Given the description of an element on the screen output the (x, y) to click on. 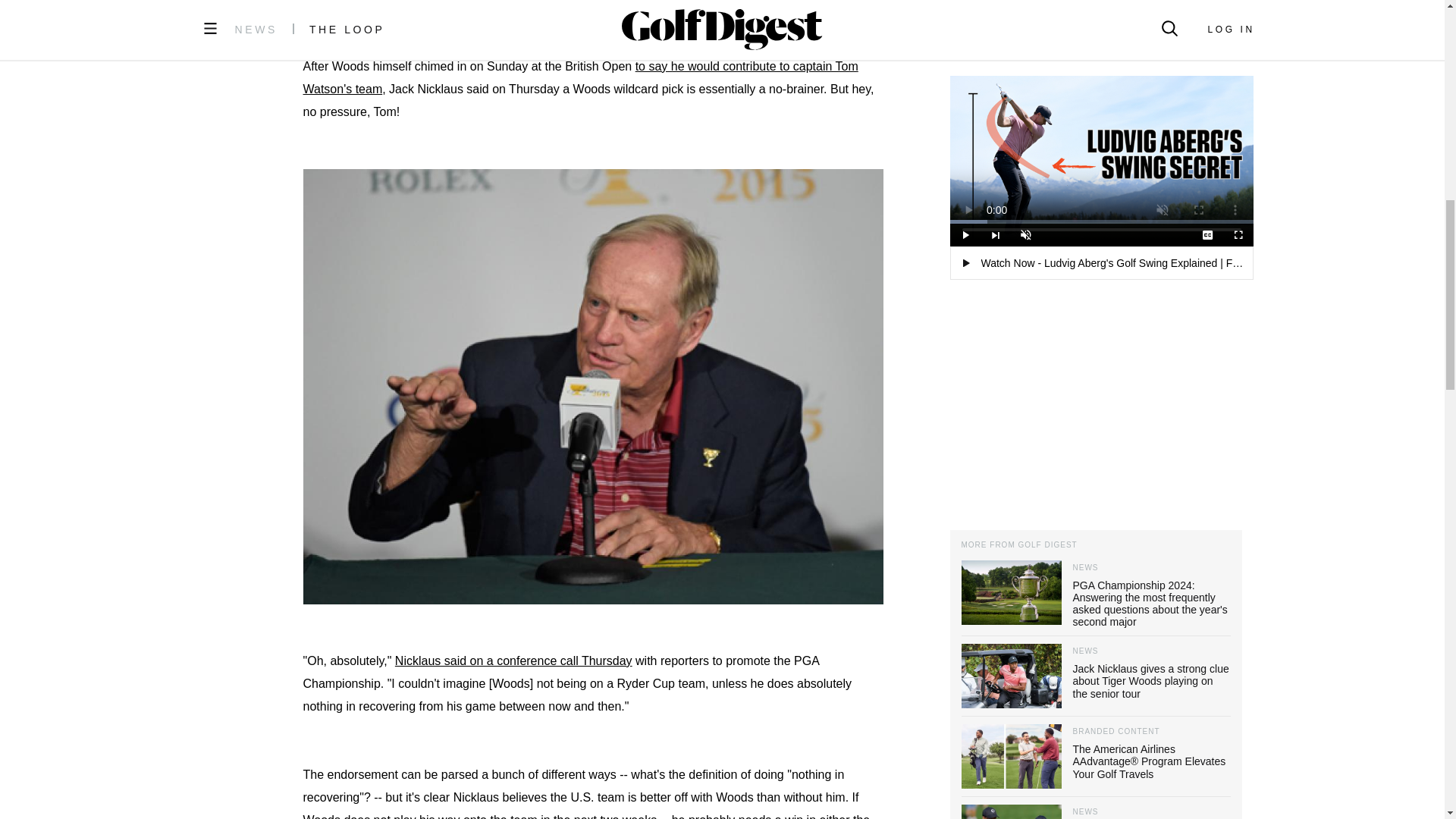
3rd party ad content (593, 4)
